Given the description of an element on the screen output the (x, y) to click on. 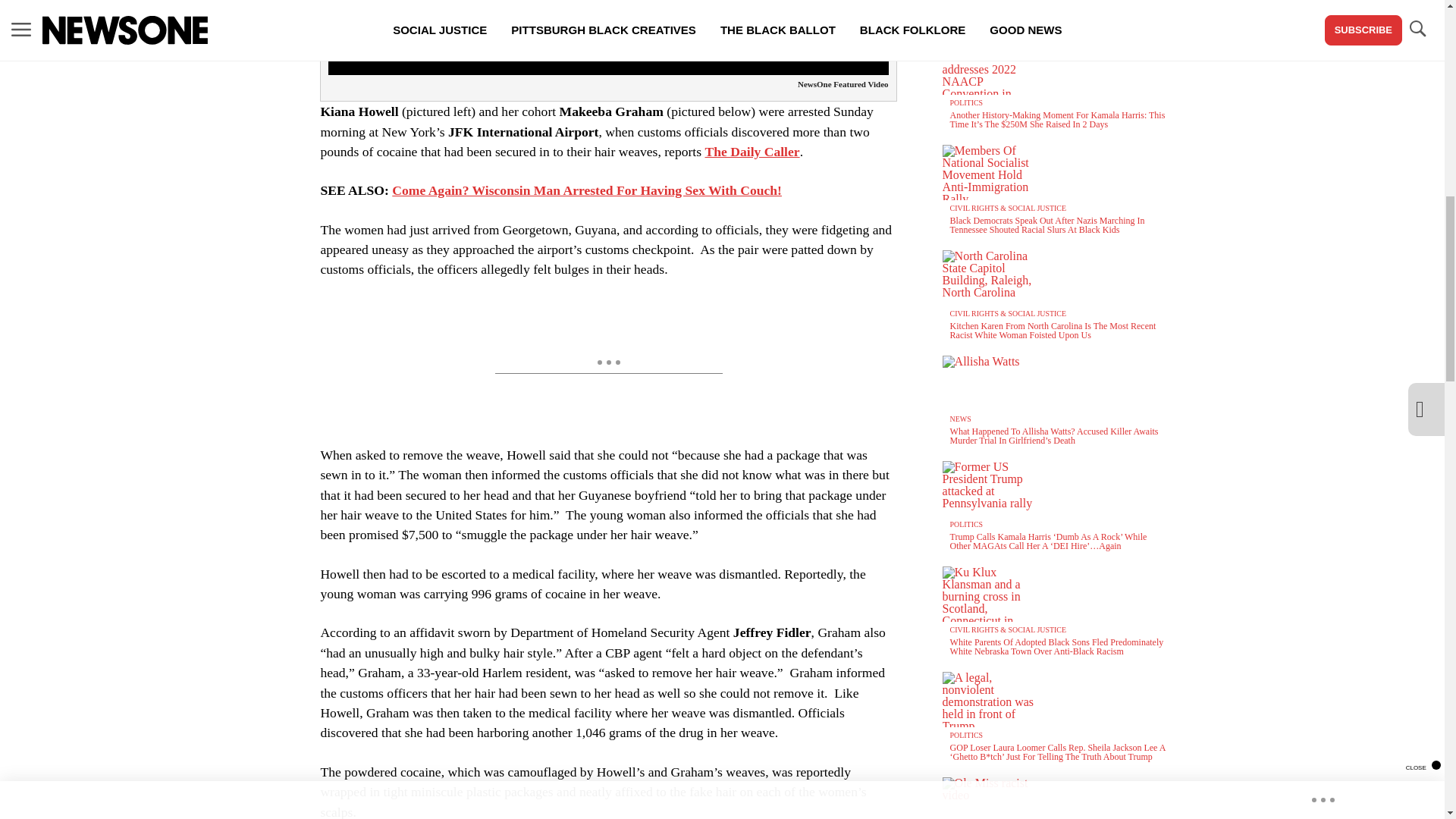
The Daily Caller (751, 151)
